Given the description of an element on the screen output the (x, y) to click on. 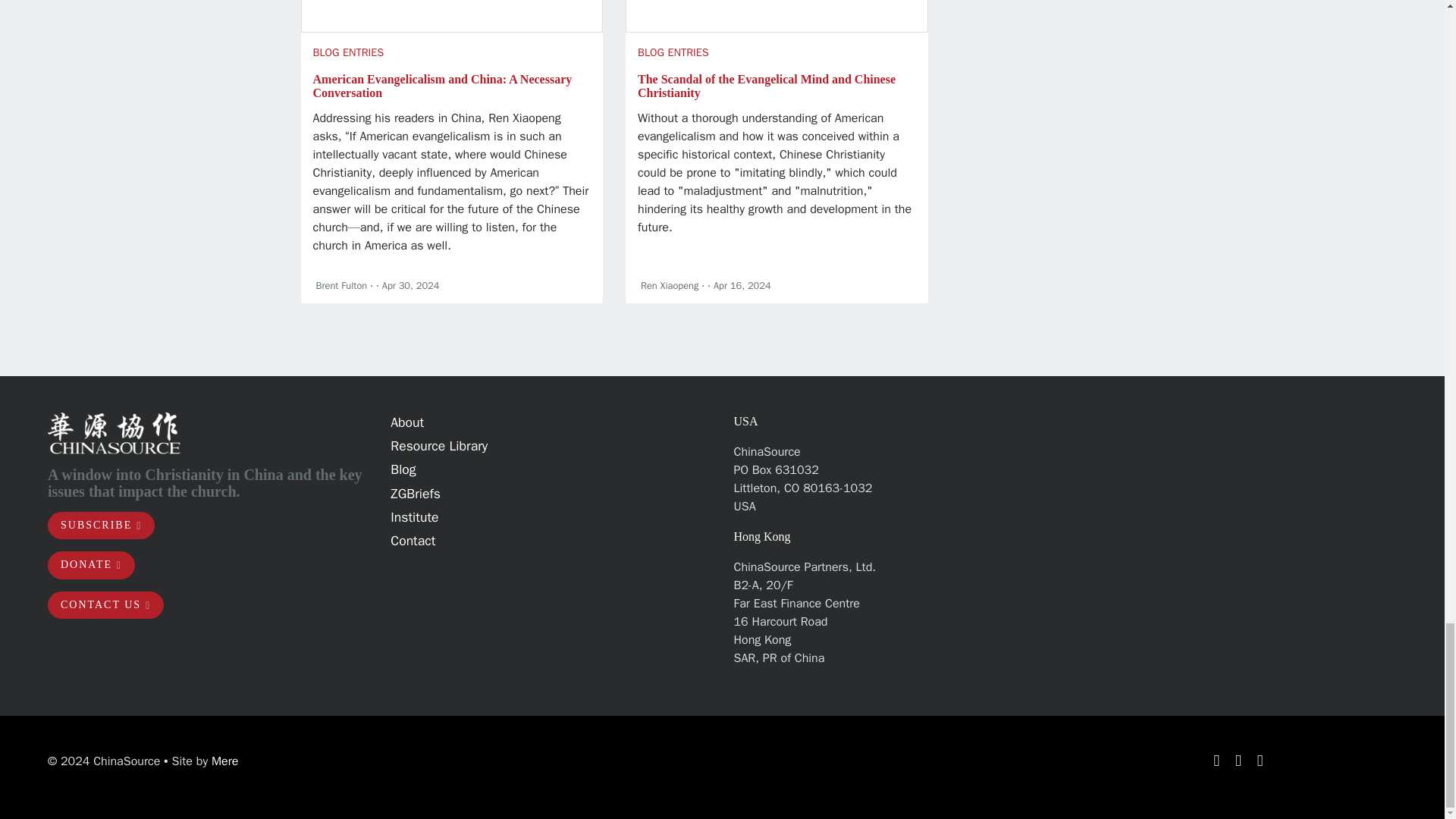
BLOG ENTRIES (348, 51)
